Given the description of an element on the screen output the (x, y) to click on. 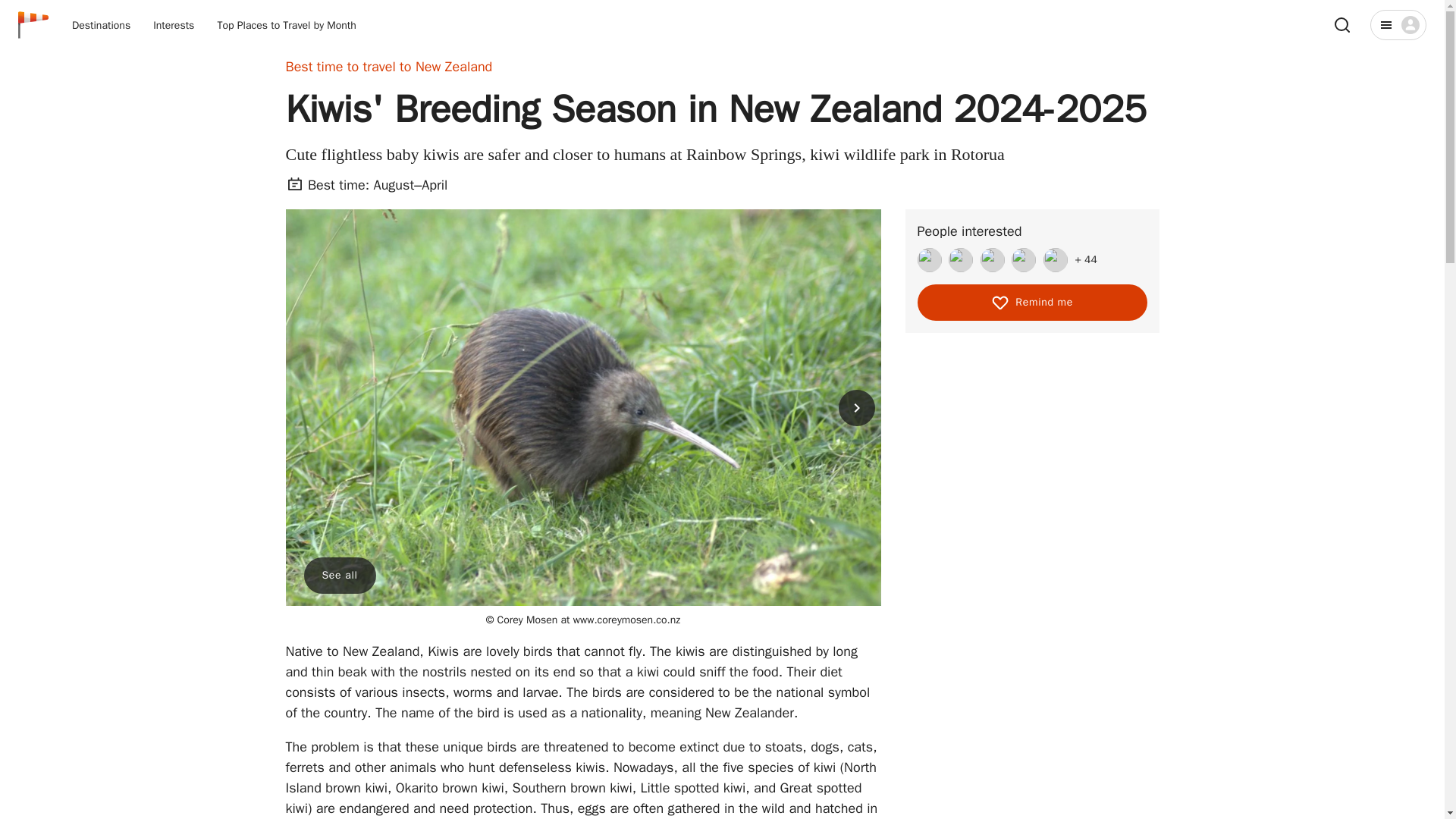
Destinations (100, 24)
Corey Mosen at www.coreymosen.co.nz (582, 620)
Search (1342, 24)
Interests (173, 24)
Top Places to Travel by Month (286, 24)
See all (338, 575)
Home (32, 24)
Chris Shaw (960, 259)
Chloe Chong (1055, 259)
Meiyin Sik (991, 259)
